Given the description of an element on the screen output the (x, y) to click on. 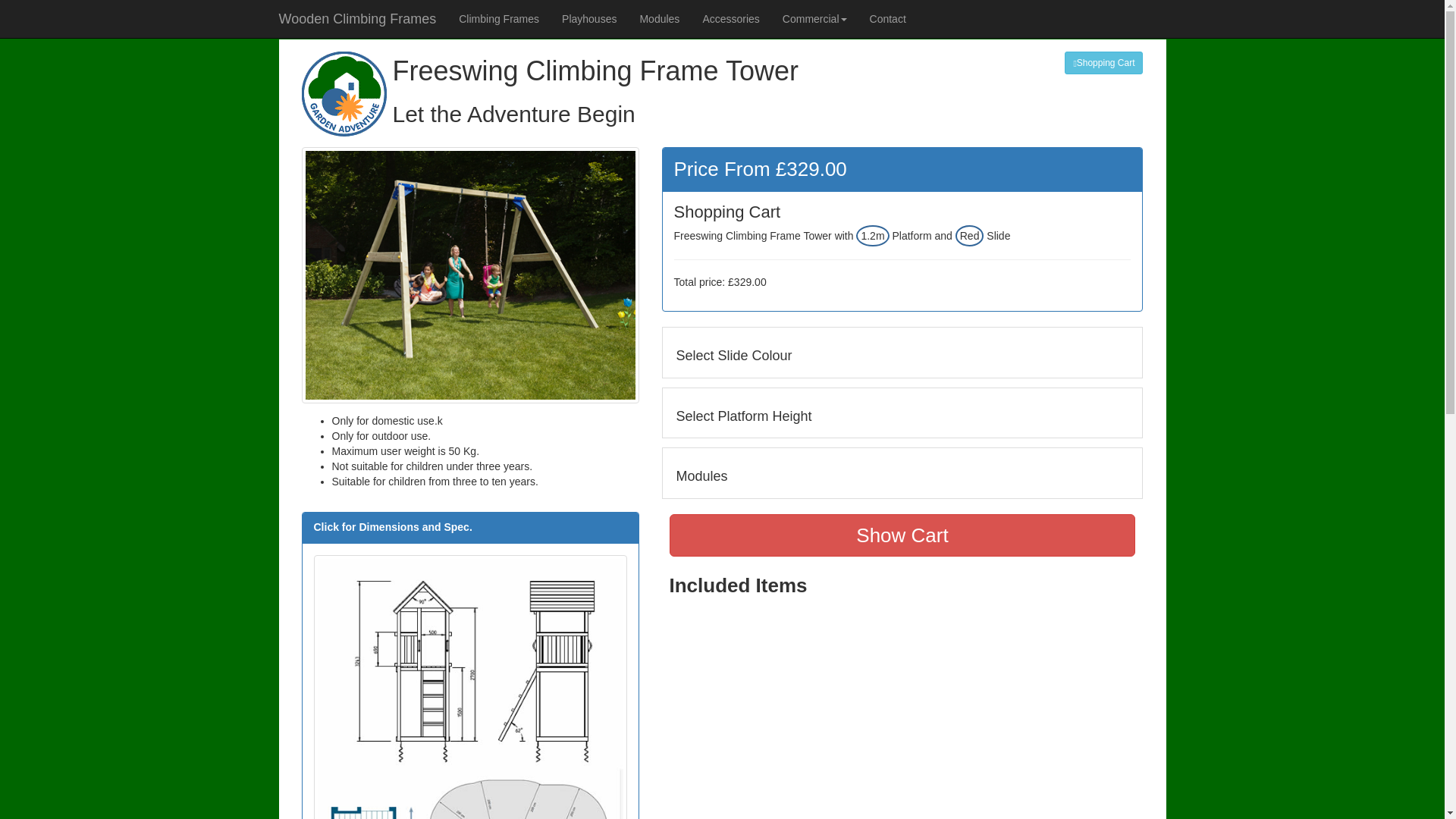
Wooden Climbing Frames (356, 18)
Climbing Frames (498, 18)
Show Cart (901, 535)
Wooden Climbing Frames (356, 18)
Playhouses (588, 18)
Accessories (730, 18)
Modules (658, 18)
Commercial (815, 18)
Contact (888, 18)
Shopping Cart (1103, 62)
